Given the description of an element on the screen output the (x, y) to click on. 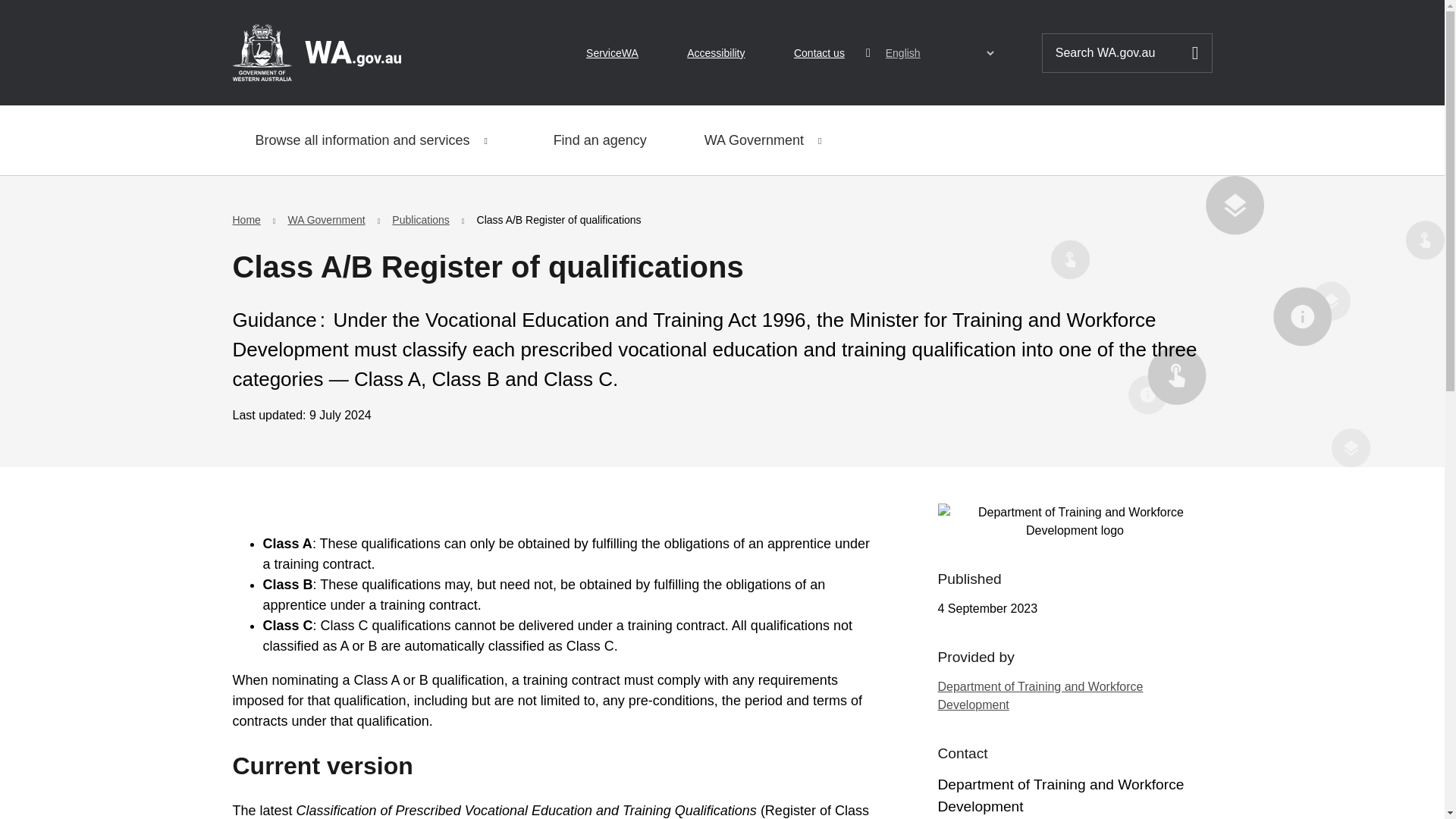
Go to the WA.gov.au homepage (315, 51)
Skip to main content (22, 16)
Browse all information and services (374, 140)
Accessibility (715, 53)
Contact us (818, 53)
ServiceWA (612, 53)
